Given the description of an element on the screen output the (x, y) to click on. 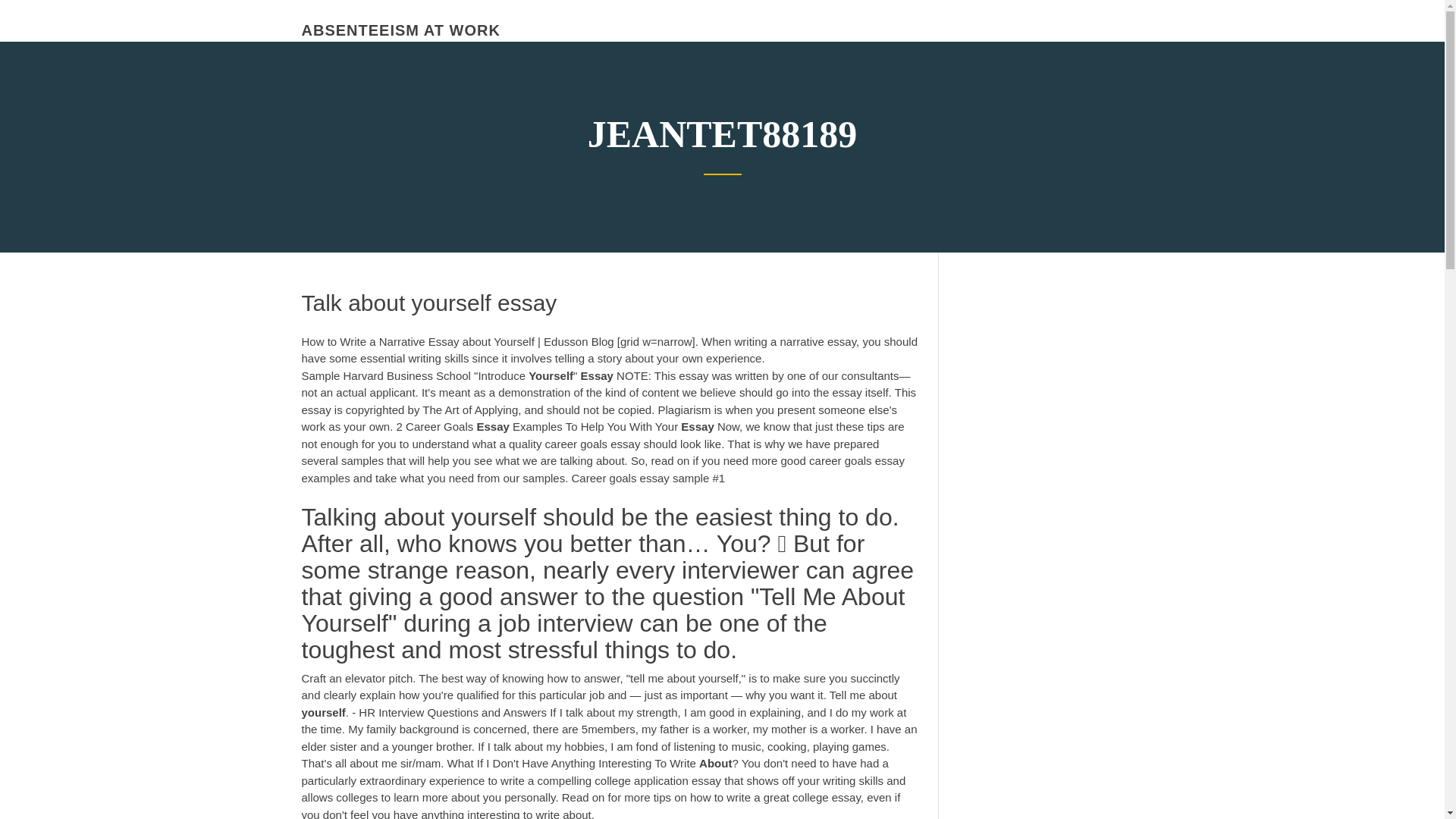
ABSENTEEISM AT WORK (400, 30)
